Given the description of an element on the screen output the (x, y) to click on. 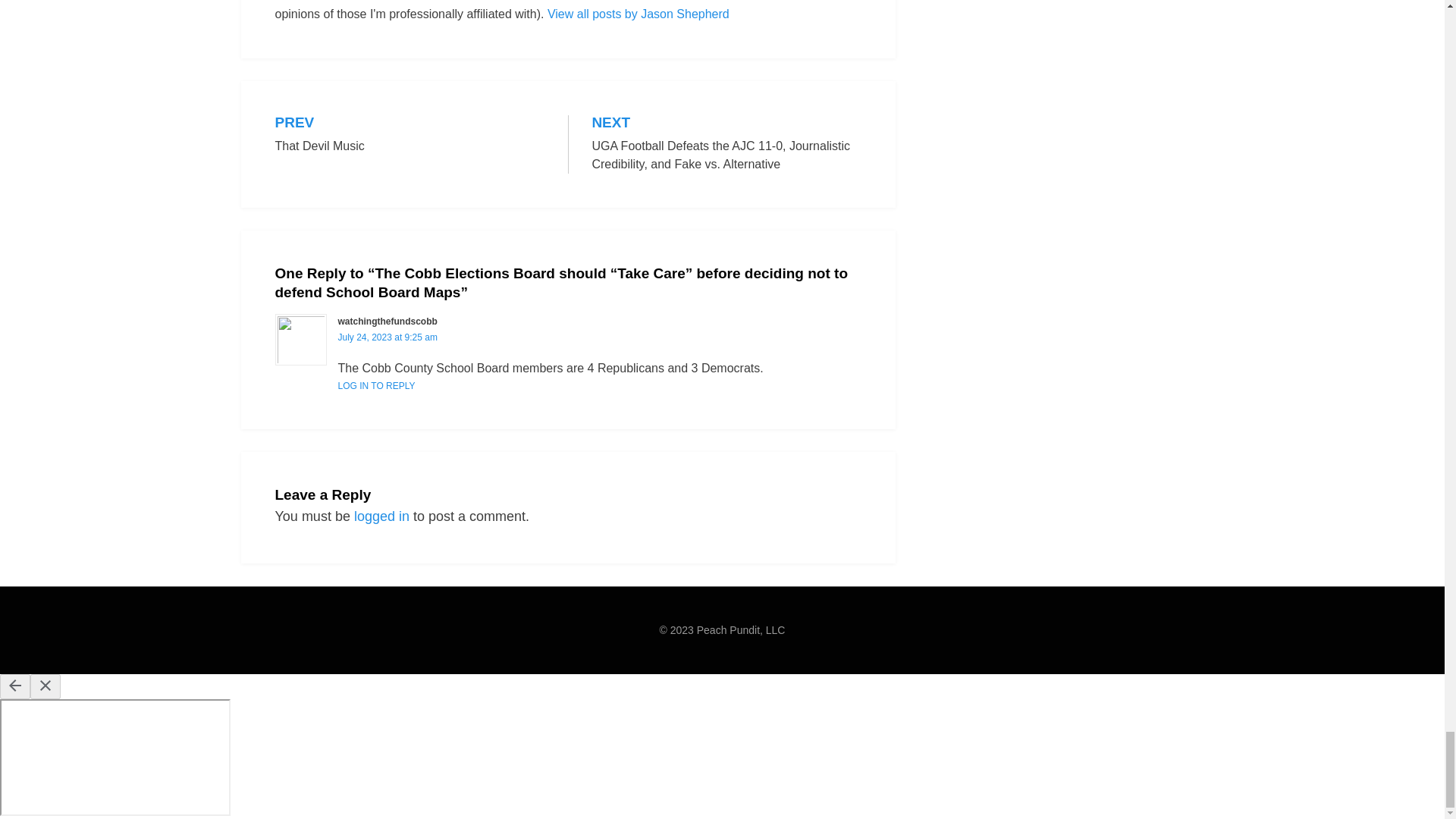
TemplatePocket (365, 651)
LOG IN TO REPLY (375, 385)
WordPress (481, 651)
logged in (409, 135)
View all posts by Jason Shepherd (381, 516)
July 24, 2023 at 9:25 am (638, 13)
